Given the description of an element on the screen output the (x, y) to click on. 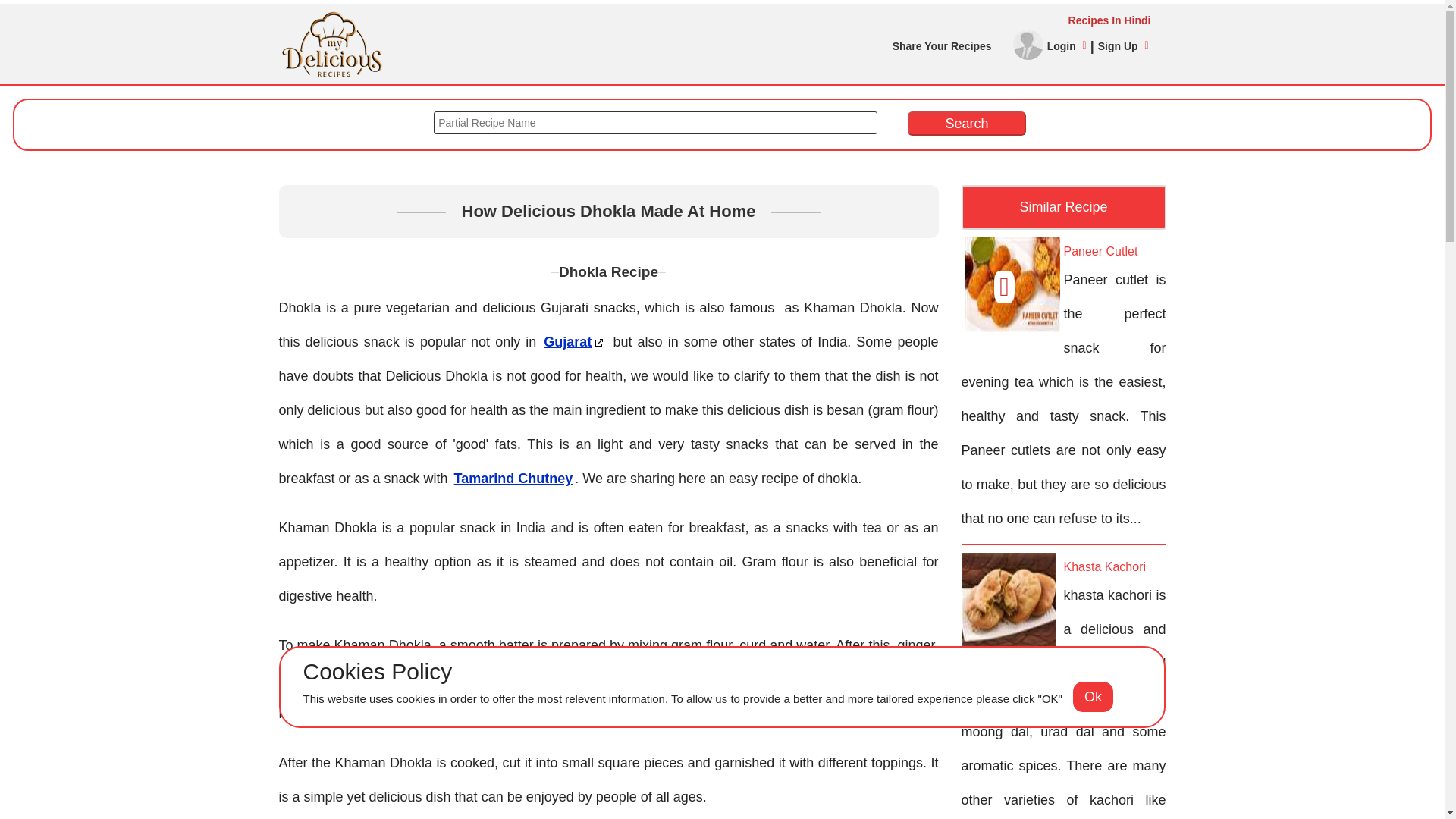
MyDelicious-Recipes.com (332, 16)
Login (1066, 46)
Gujarat (574, 342)
Tamarind Chutney (513, 478)
Share Your Recipes (941, 46)
Sign Up (1122, 46)
Recipes In Hindi (715, 20)
Search (966, 123)
MyDelicious-Recipes.com (332, 43)
Gujarat (574, 342)
